Given the description of an element on the screen output the (x, y) to click on. 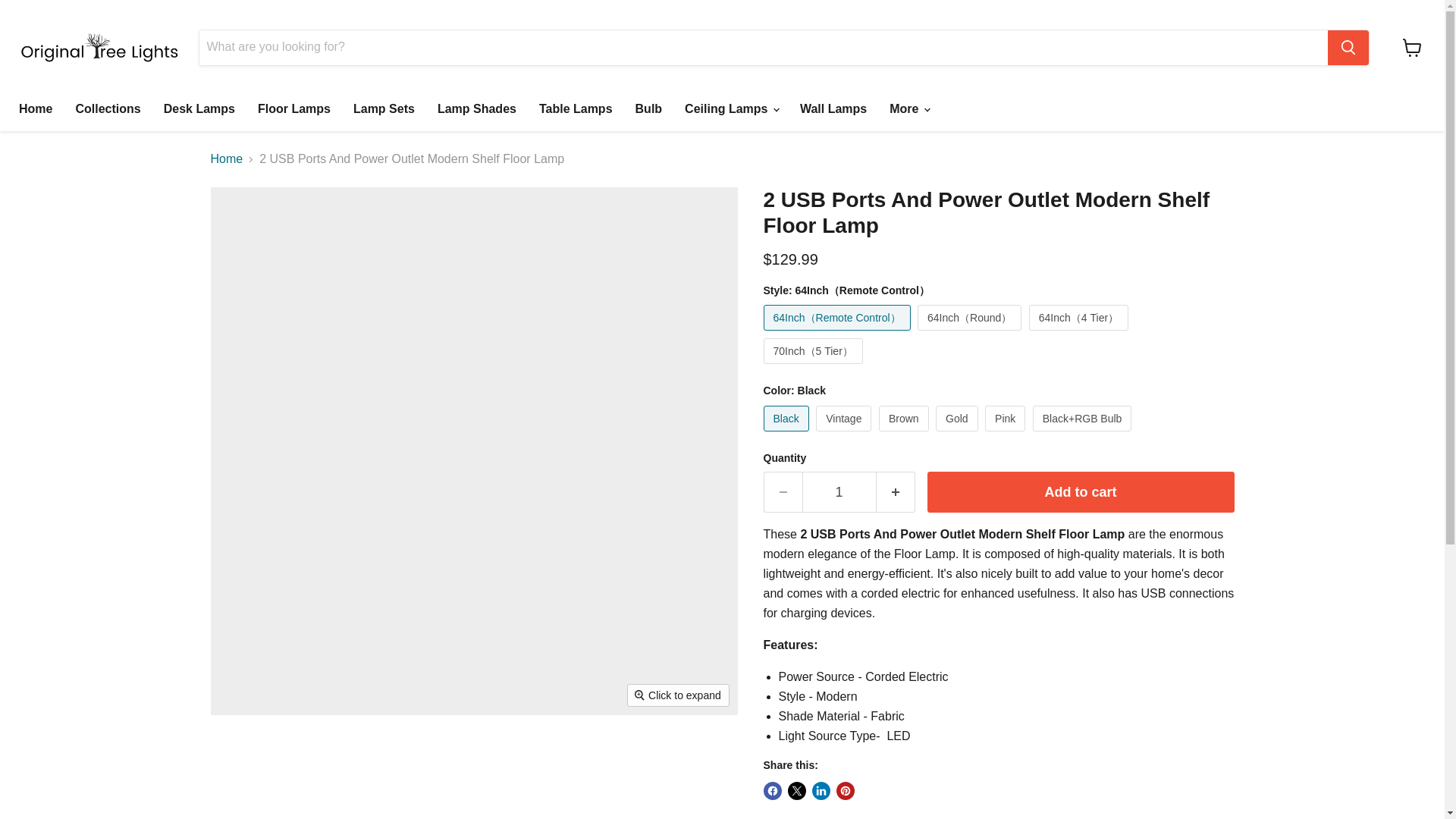
Lamp Shades (476, 109)
Floor Lamps (294, 109)
Home (35, 109)
View cart (1411, 46)
1 (839, 492)
Bulb (649, 109)
Collections (107, 109)
Wall Lamps (833, 109)
Desk Lamps (199, 109)
Lamp Sets (384, 109)
